Given the description of an element on the screen output the (x, y) to click on. 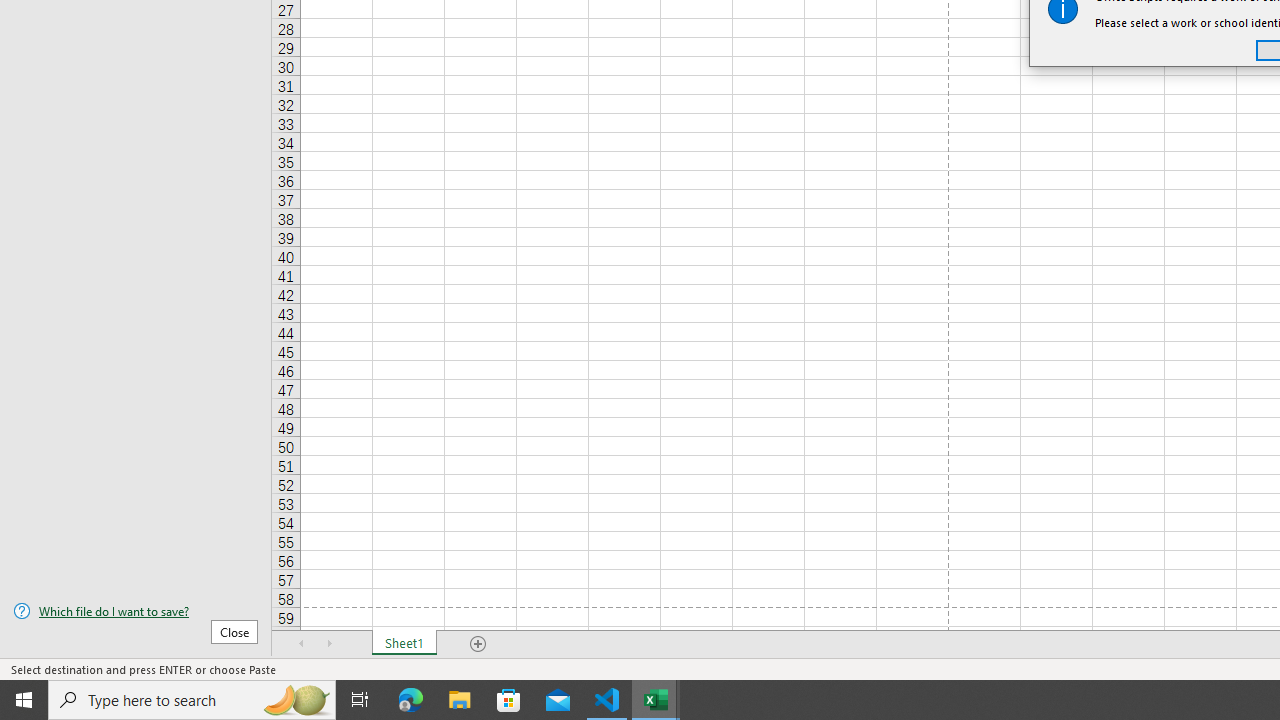
Microsoft Store (509, 699)
File Explorer (460, 699)
Type here to search (191, 699)
Start (24, 699)
Task View (359, 699)
Excel - 2 running windows (656, 699)
Microsoft Edge (411, 699)
Visual Studio Code - 1 running window (607, 699)
